Given the description of an element on the screen output the (x, y) to click on. 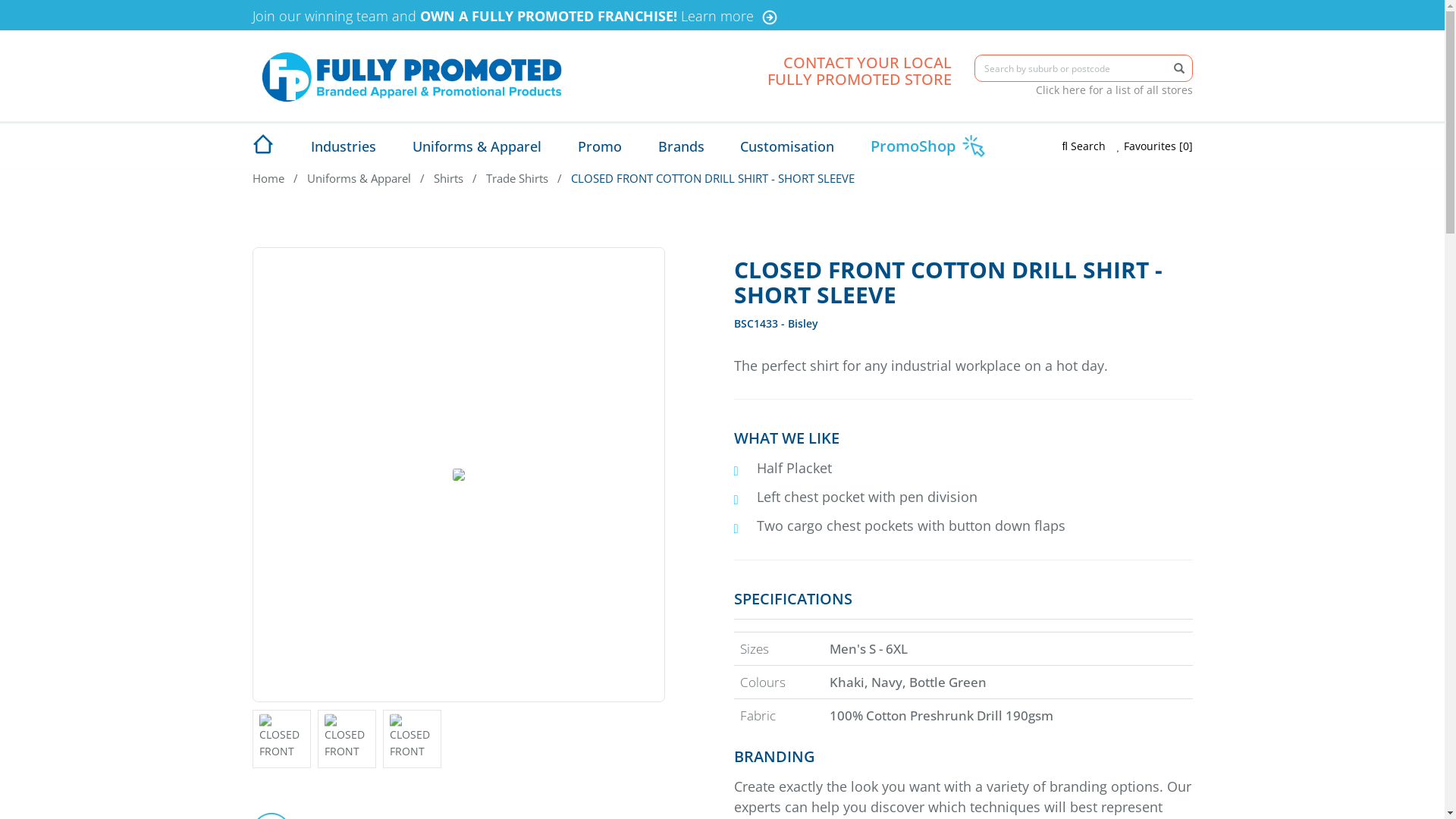
CLOSED FRONT COTTON DRILL SHIRT - SHORT SLEEVE Element type: text (711, 177)
Shirts Element type: text (448, 177)
Click here for a list of all stores Element type: text (1113, 89)
Home Element type: text (267, 177)
Trade Shirts Element type: text (516, 177)
Uniforms & Apparel Element type: text (358, 177)
